Given the description of an element on the screen output the (x, y) to click on. 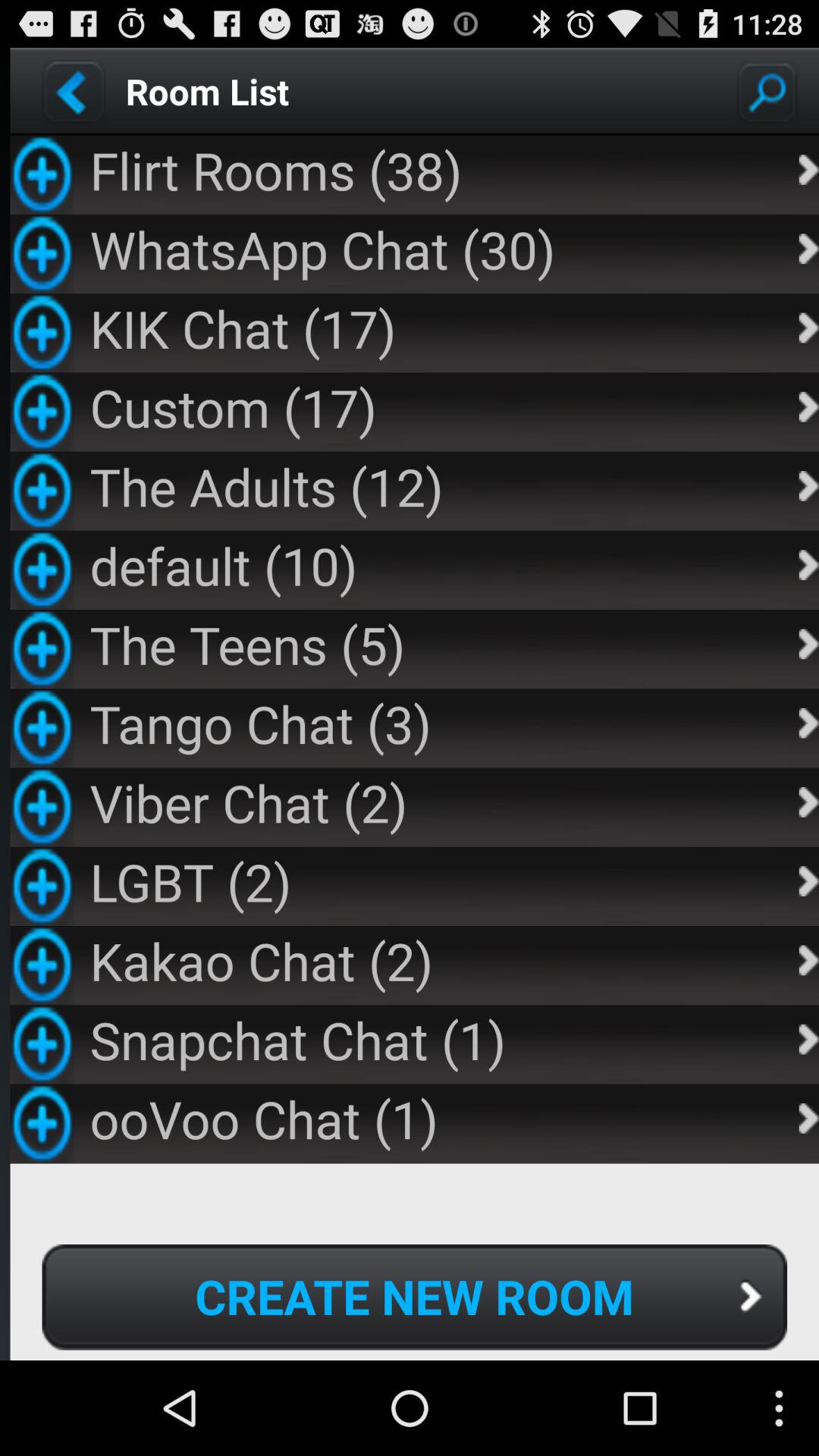
search button (767, 91)
